Given the description of an element on the screen output the (x, y) to click on. 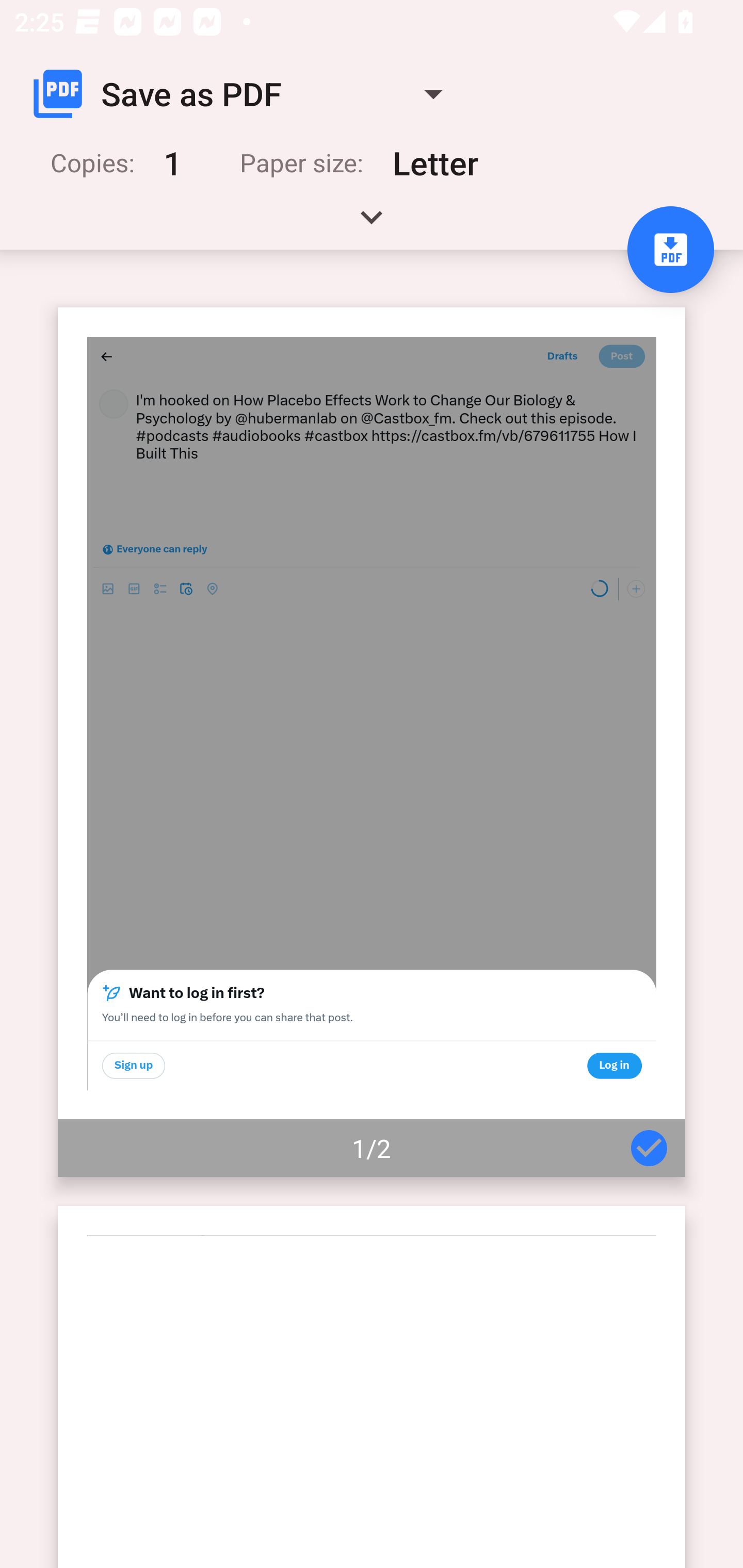
Save as PDF (245, 93)
Expand handle (371, 224)
Save to PDF (670, 249)
Page 1 of 2 1/2 (371, 742)
